Given the description of an element on the screen output the (x, y) to click on. 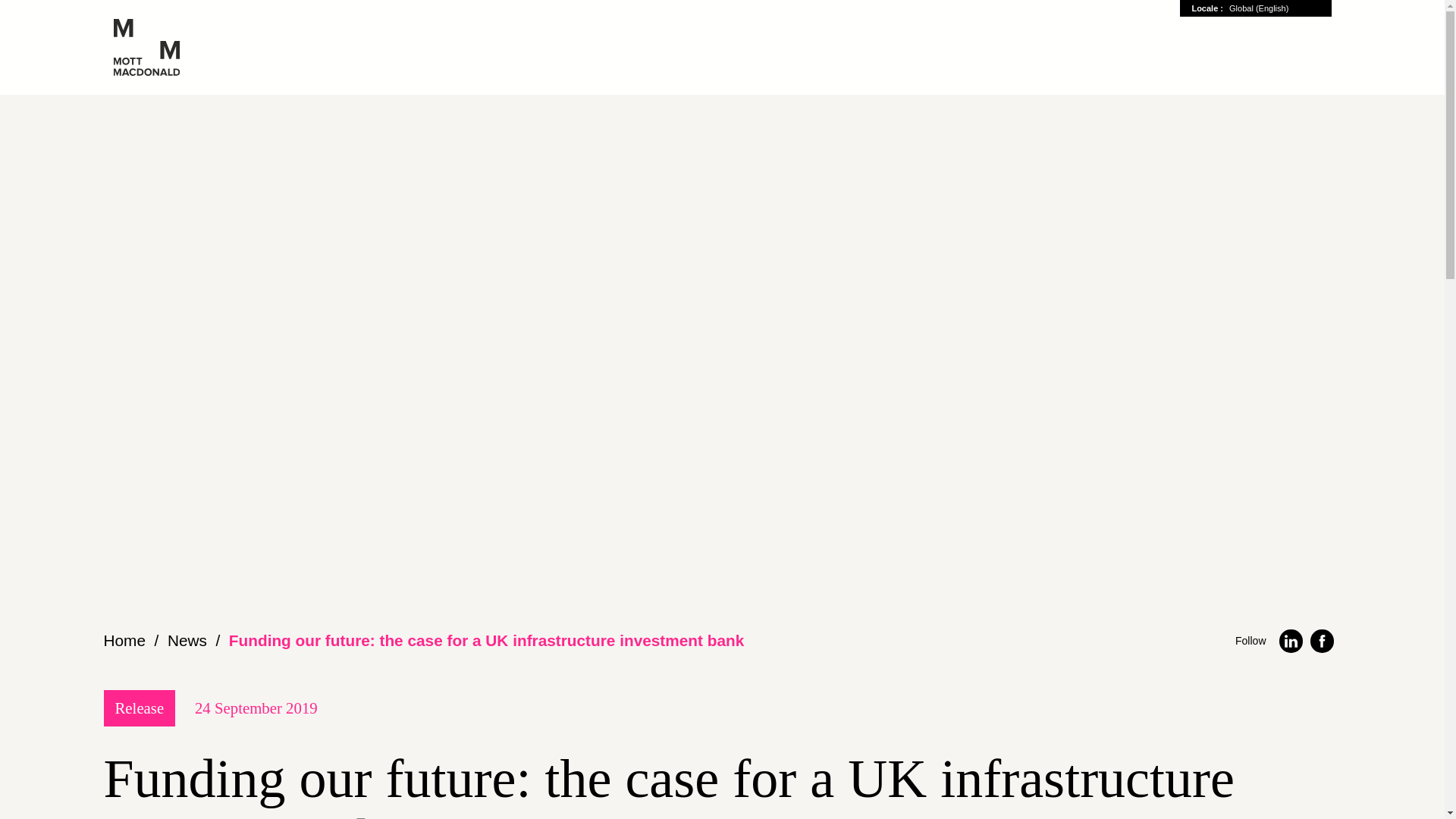
News (186, 640)
Home (123, 640)
